Given the description of an element on the screen output the (x, y) to click on. 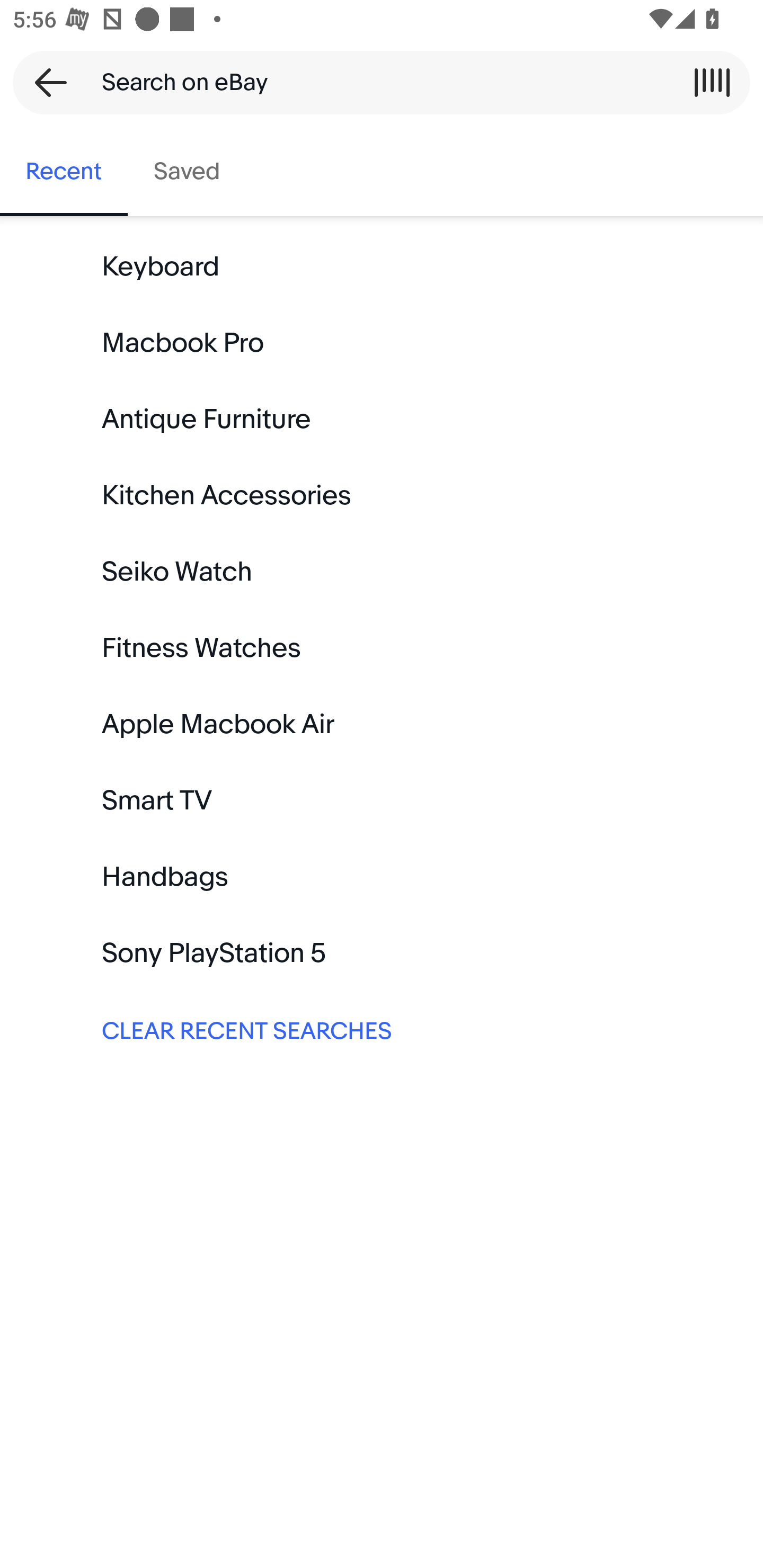
Back (44, 82)
Scan a barcode (711, 82)
Search on eBay (375, 82)
Saved, tab 2 of 2 Saved (186, 171)
Keyboard Keyword search Keyboard: (381, 266)
Macbook Pro Keyword search Macbook Pro: (381, 343)
Seiko Watch Keyword search Seiko Watch: (381, 571)
Fitness Watches Keyword search Fitness Watches: (381, 647)
Smart TV Keyword search Smart TV: (381, 800)
Handbags Keyword search Handbags: (381, 876)
CLEAR RECENT SEARCHES (381, 1028)
